Given the description of an element on the screen output the (x, y) to click on. 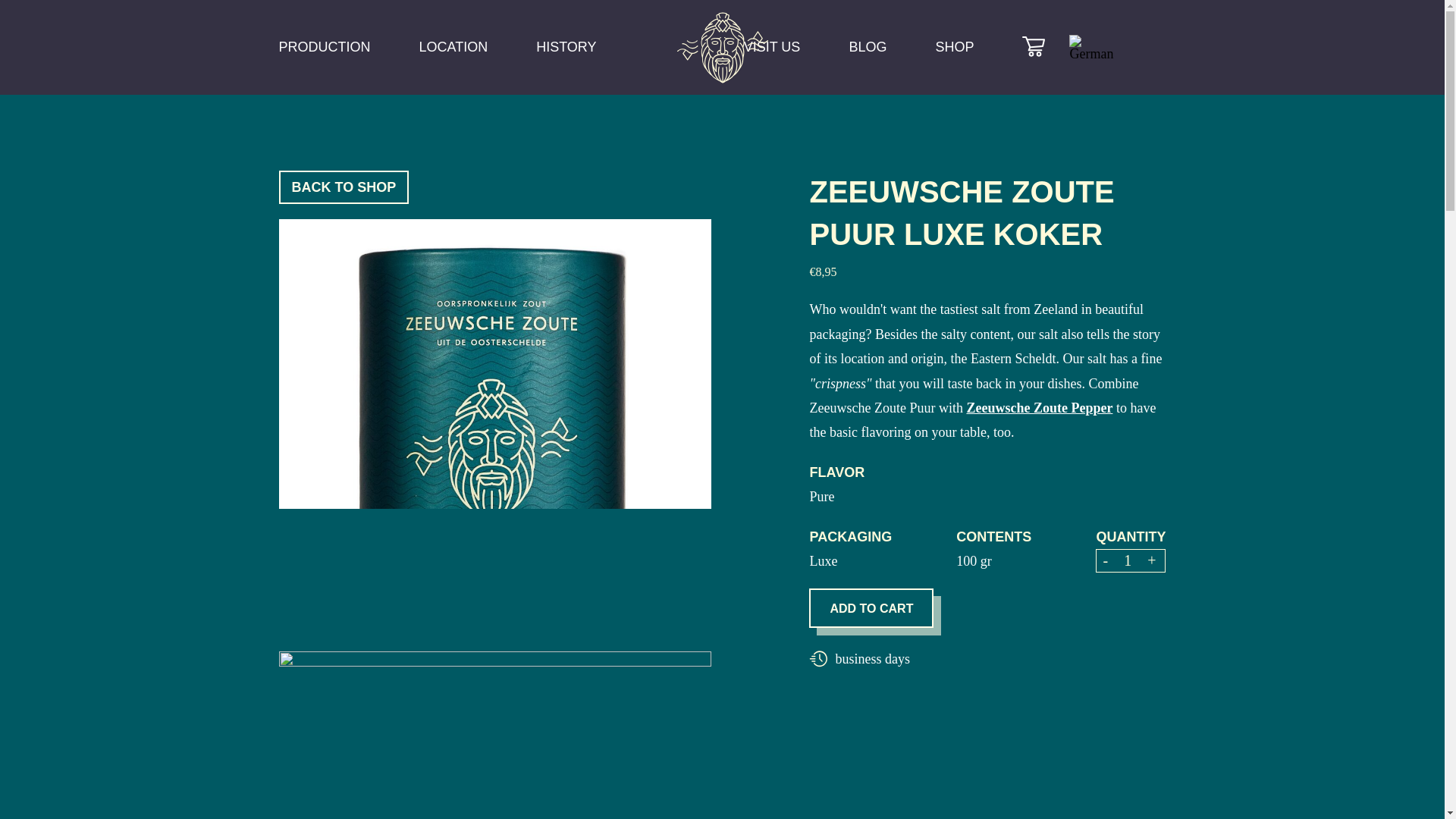
Zeeuwsche Zoute Pepper (1039, 407)
1 (1127, 560)
VISIT US (772, 49)
ADD TO CART (871, 608)
BACK TO SHOP (344, 186)
HISTORY (565, 49)
PRODUCTION (325, 49)
BLOG (867, 49)
SHOP (954, 49)
LOCATION (453, 49)
